Given the description of an element on the screen output the (x, y) to click on. 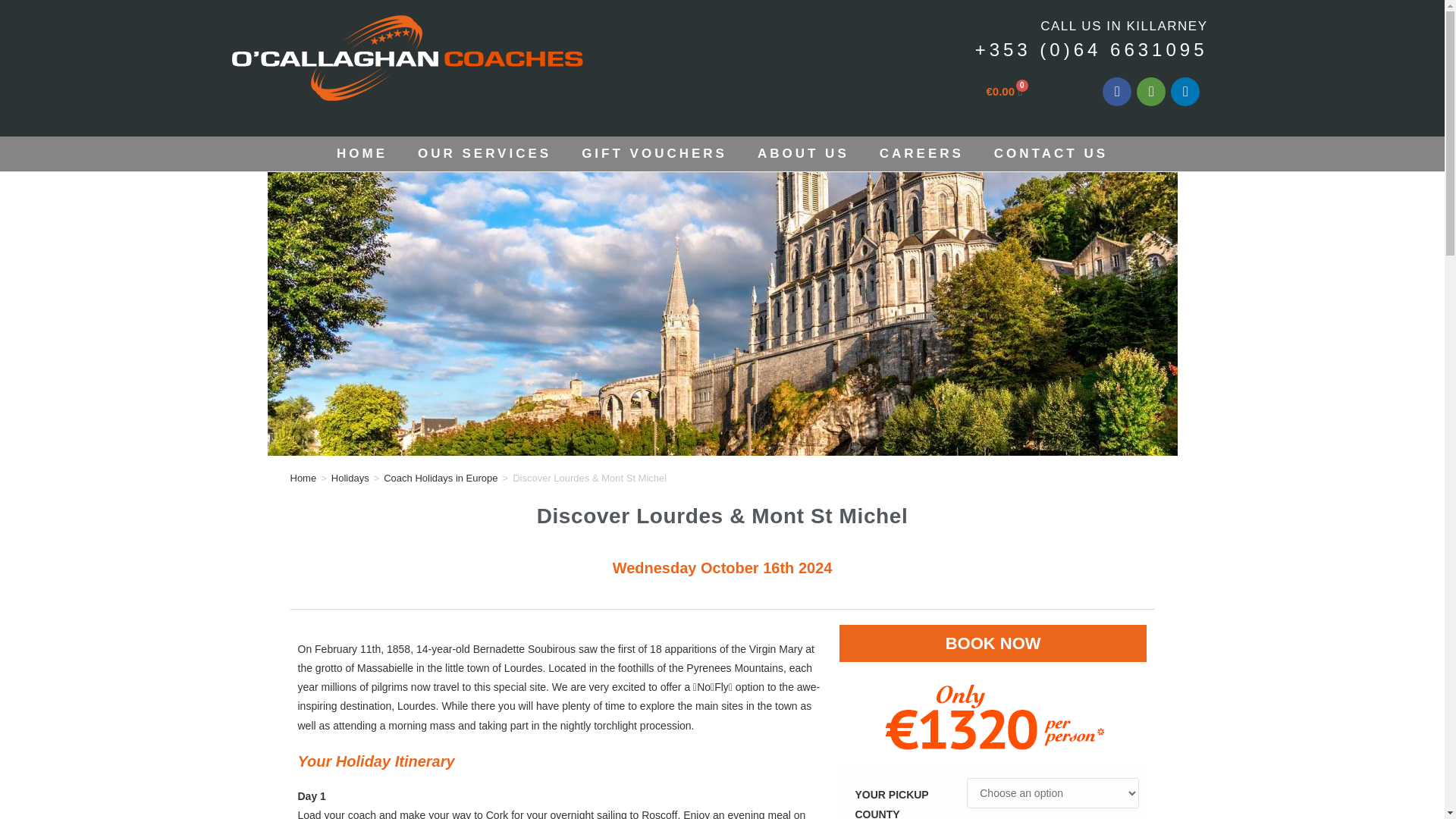
OUR SERVICES (484, 153)
HOME (362, 153)
ABOUT US (803, 153)
Home (302, 478)
CAREERS (921, 153)
CONTACT US (1050, 153)
Holidays (350, 478)
GIFT VOUCHERS (654, 153)
